Given the description of an element on the screen output the (x, y) to click on. 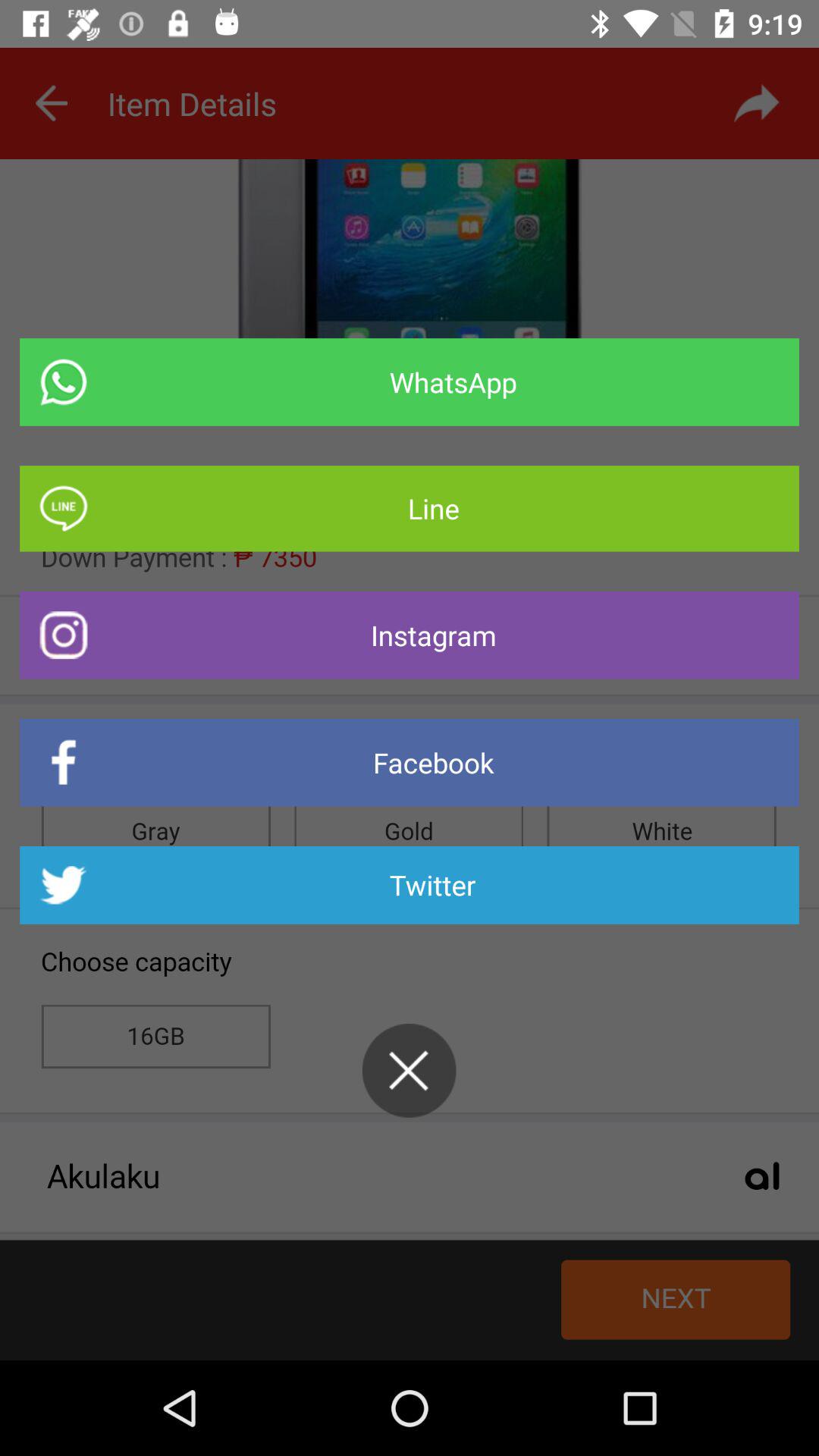
close button (409, 1070)
